Given the description of an element on the screen output the (x, y) to click on. 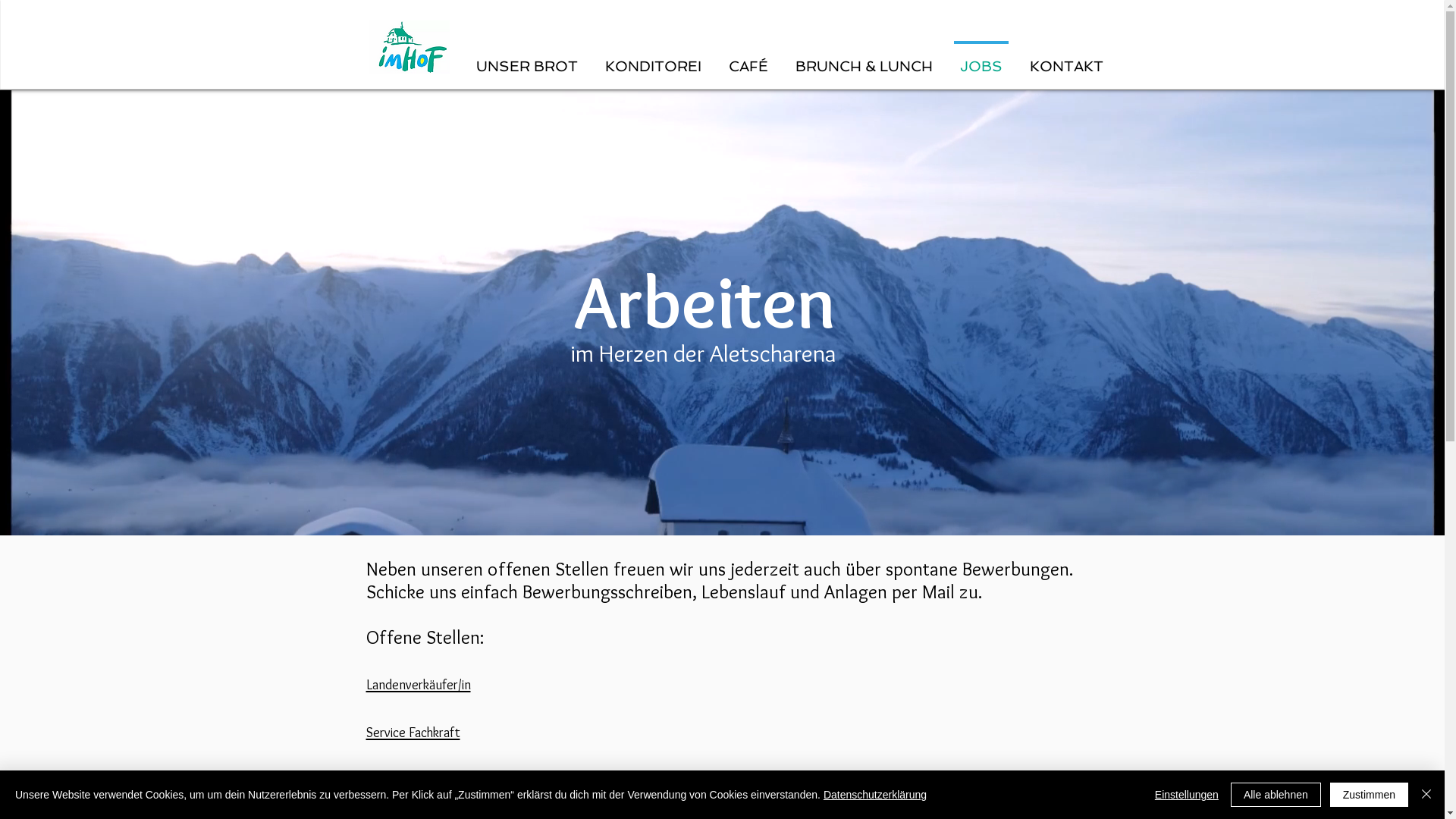
KONDITOREI Element type: text (653, 59)
Bewerbung  Element type: text (626, 780)
Alle ablehnen Element type: text (1275, 794)
Wir freuen uns auf Deine  Element type: text (509, 780)
Service Fachkraft Element type: text (412, 729)
Zustimmen Element type: text (1369, 794)
KONTAKT Element type: text (1066, 59)
UNSER BROT Element type: text (526, 59)
JOBS Element type: text (981, 59)
BRUNCH & LUNCH Element type: text (863, 59)
